Given the description of an element on the screen output the (x, y) to click on. 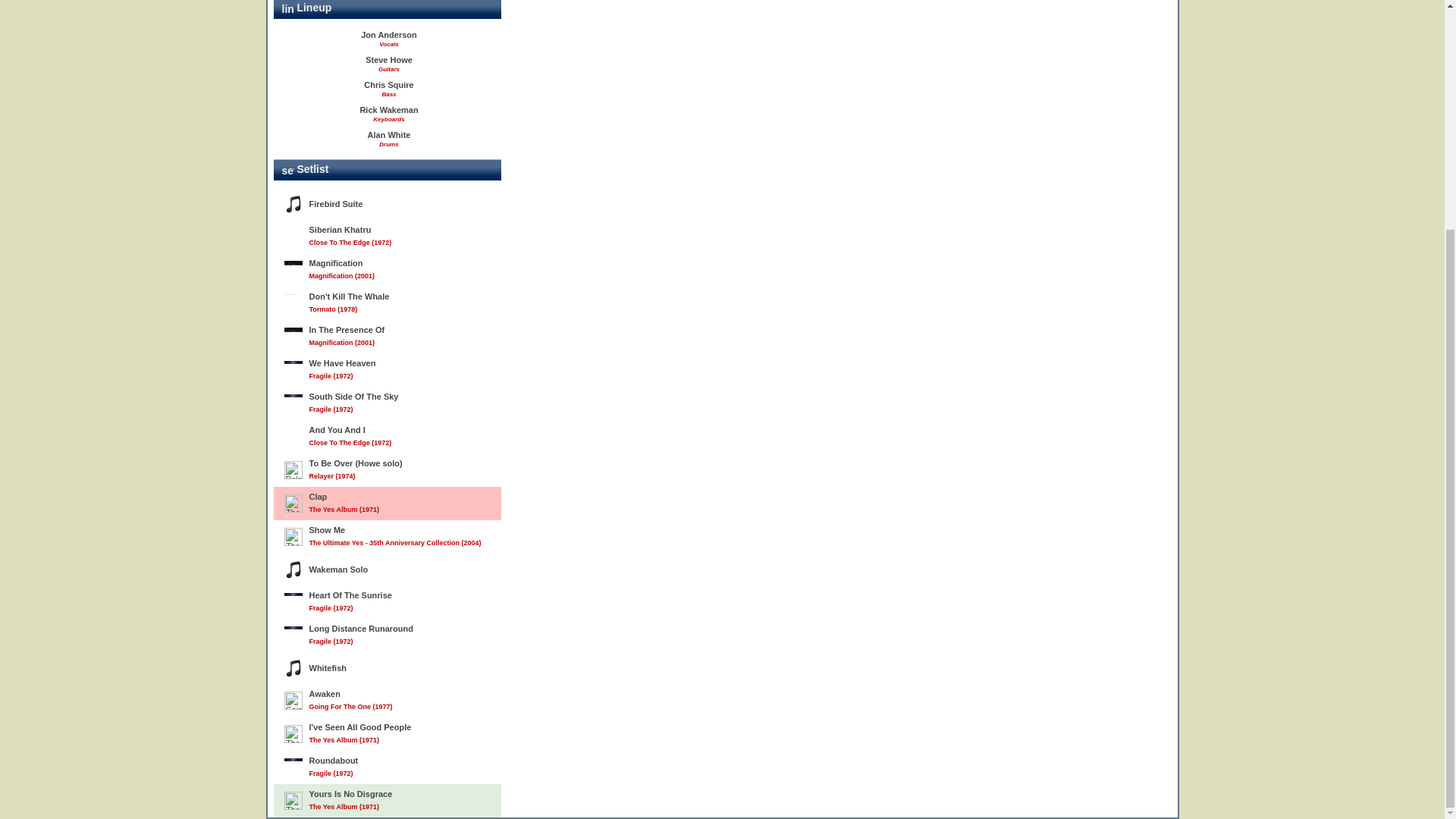
lineup (288, 9)
Firebird Suite (386, 204)
Wakeman Solo (386, 569)
Whitefish (386, 667)
setlist (288, 170)
